Given the description of an element on the screen output the (x, y) to click on. 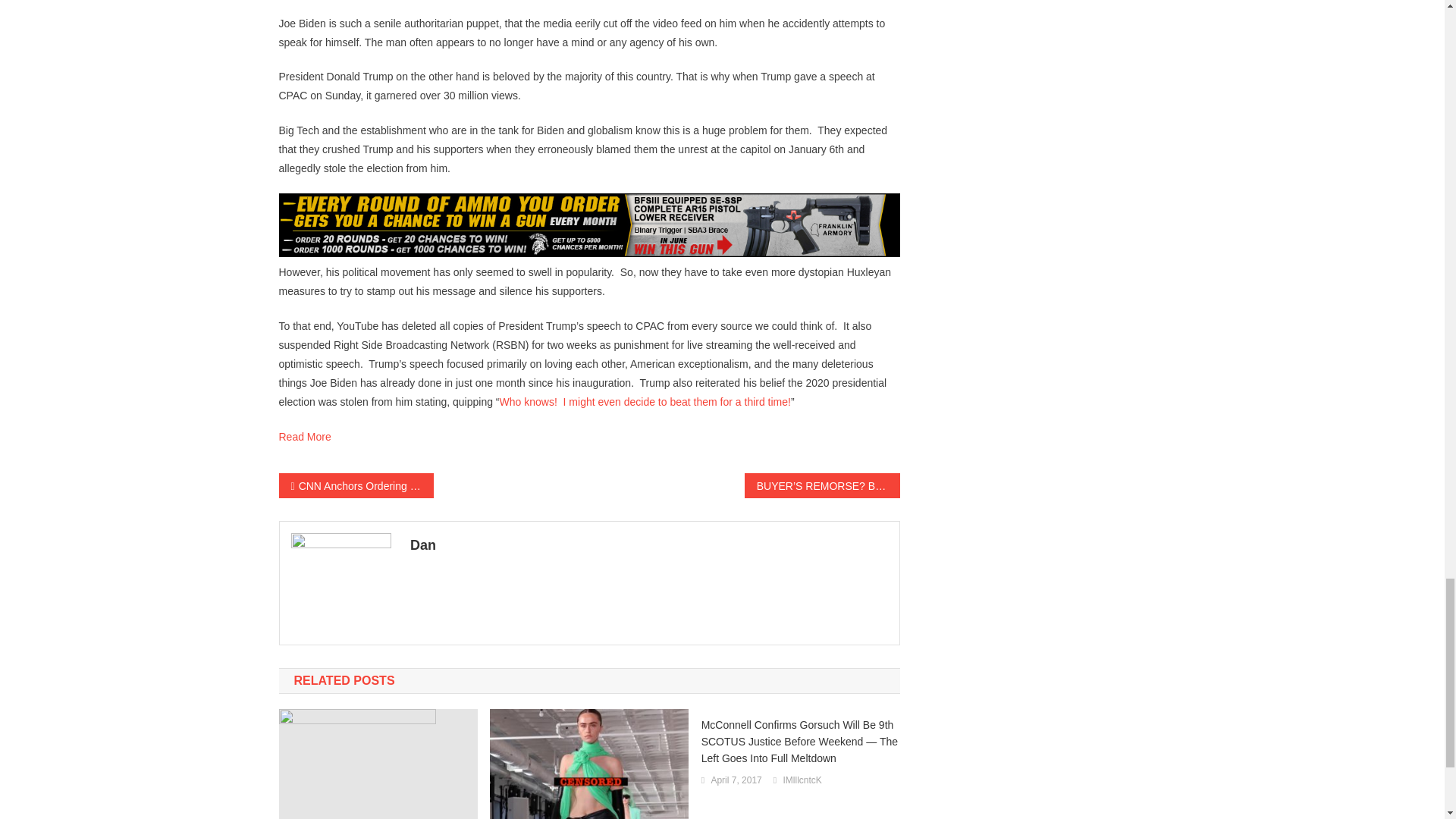
CNN Anchors Ordering Cable Companies To DUMP FOX NEWS! (356, 485)
April 7, 2017 (735, 781)
Dan (649, 545)
IMlllcntcK (802, 781)
Read More (305, 436)
